Given the description of an element on the screen output the (x, y) to click on. 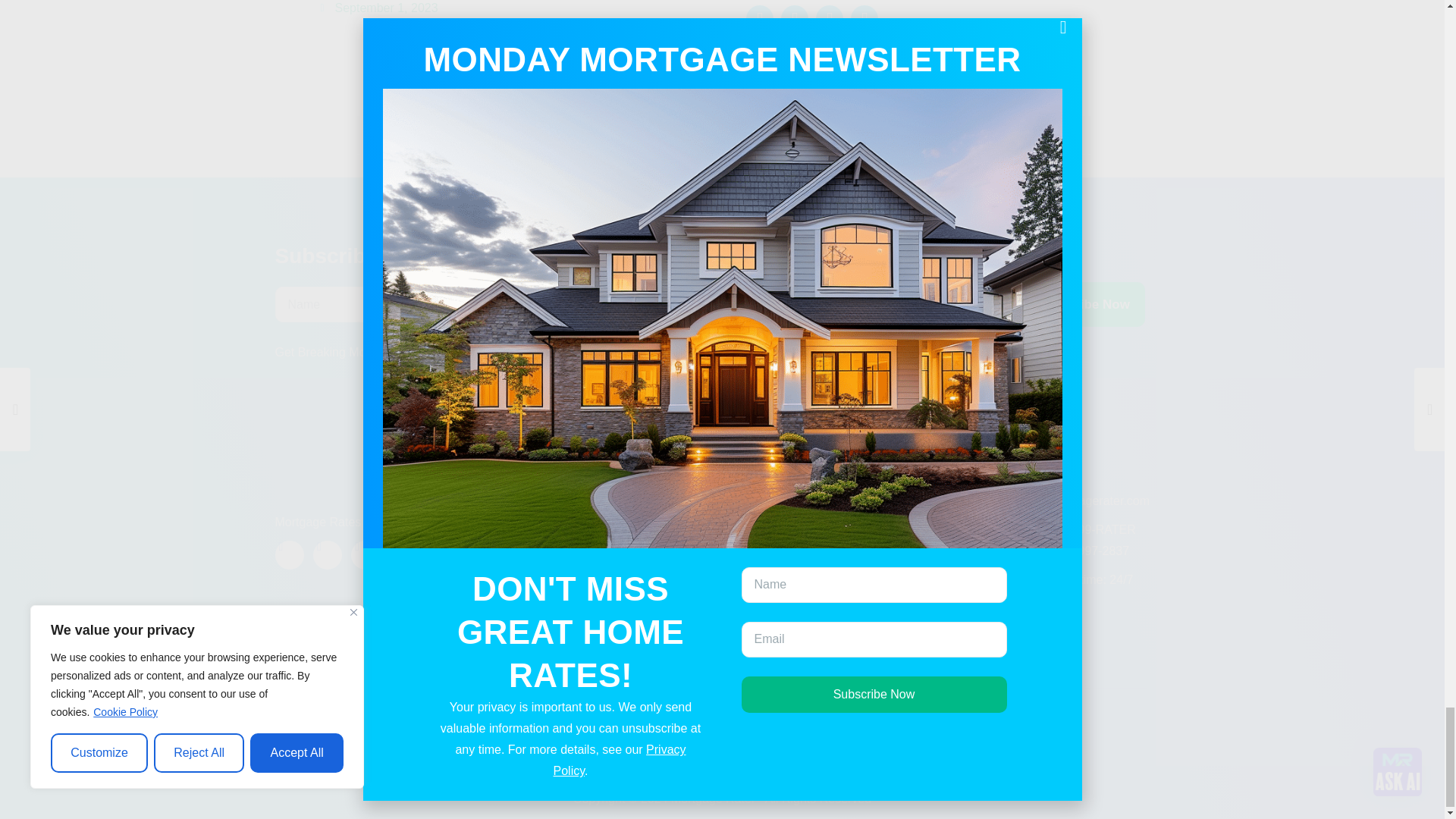
EHO-logo-white (1130, 746)
